Given the description of an element on the screen output the (x, y) to click on. 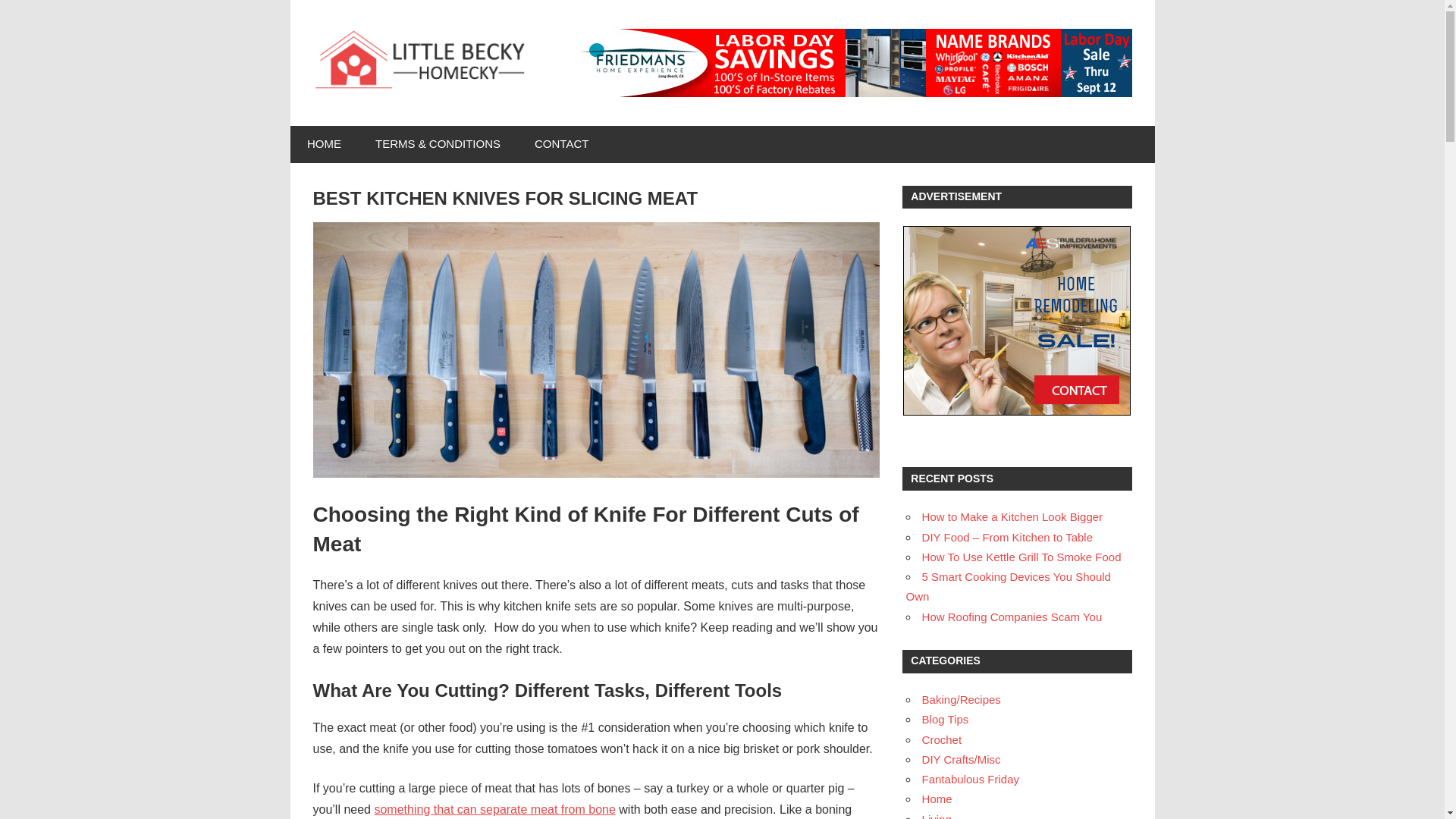
CONTACT (561, 144)
Blog Tips (945, 718)
Crochet (941, 739)
HOME (323, 144)
How To Use Kettle Grill To Smoke Food (1021, 556)
Living (936, 816)
Fantabulous Friday (970, 779)
Home (936, 798)
How to Make a Kitchen Look Bigger (1011, 516)
something that can separate meat from bone (494, 809)
How Roofing Companies Scam You (1011, 616)
5 Smart Cooking Devices You Should Own (1007, 586)
